Given the description of an element on the screen output the (x, y) to click on. 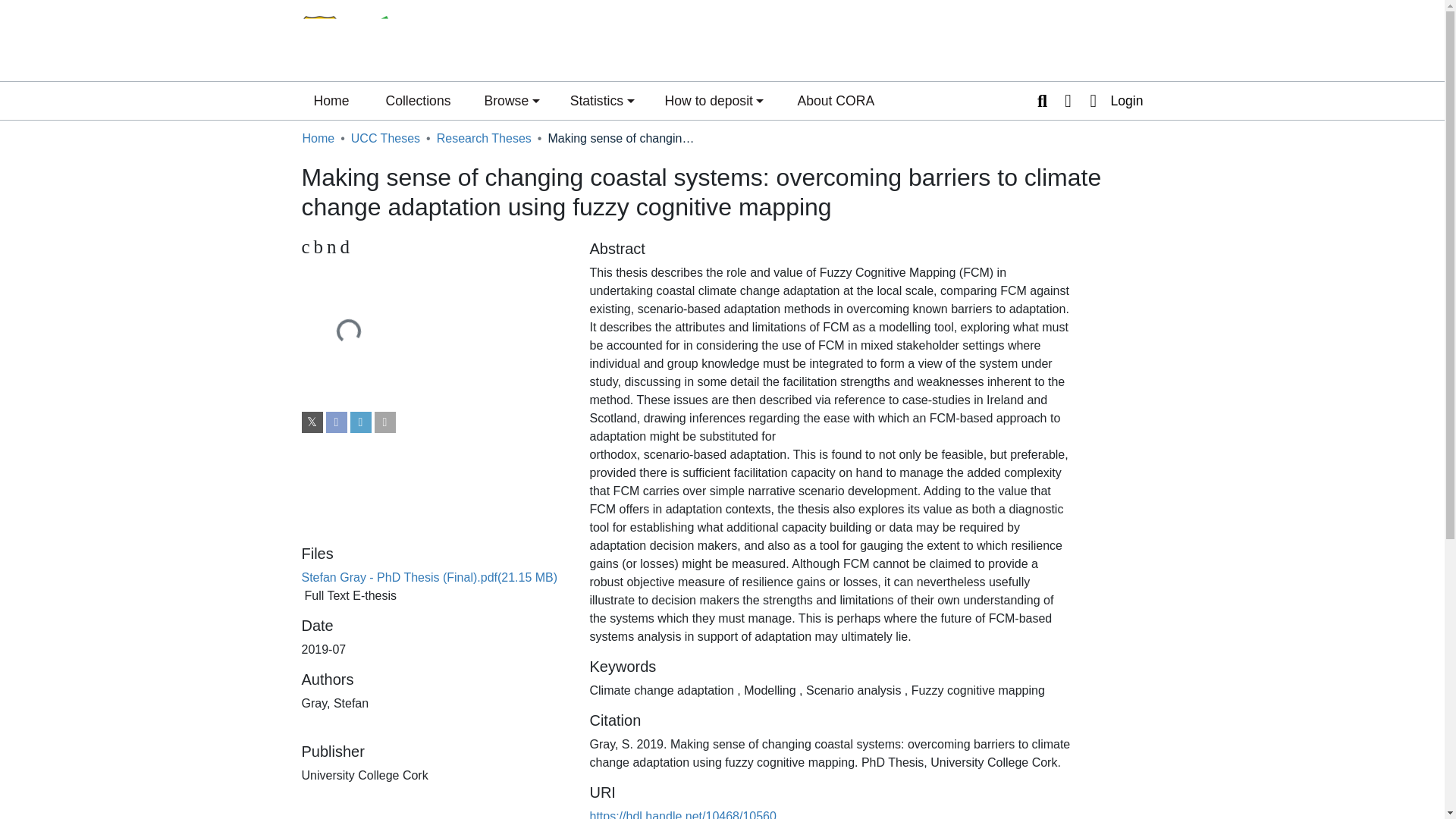
Home (317, 138)
Browse (510, 100)
Language switch (1067, 100)
How to deposit (714, 100)
Search (1041, 100)
Research Theses (483, 138)
Statistics (602, 100)
Collections (417, 100)
Home (331, 100)
Login (1111, 100)
